Given the description of an element on the screen output the (x, y) to click on. 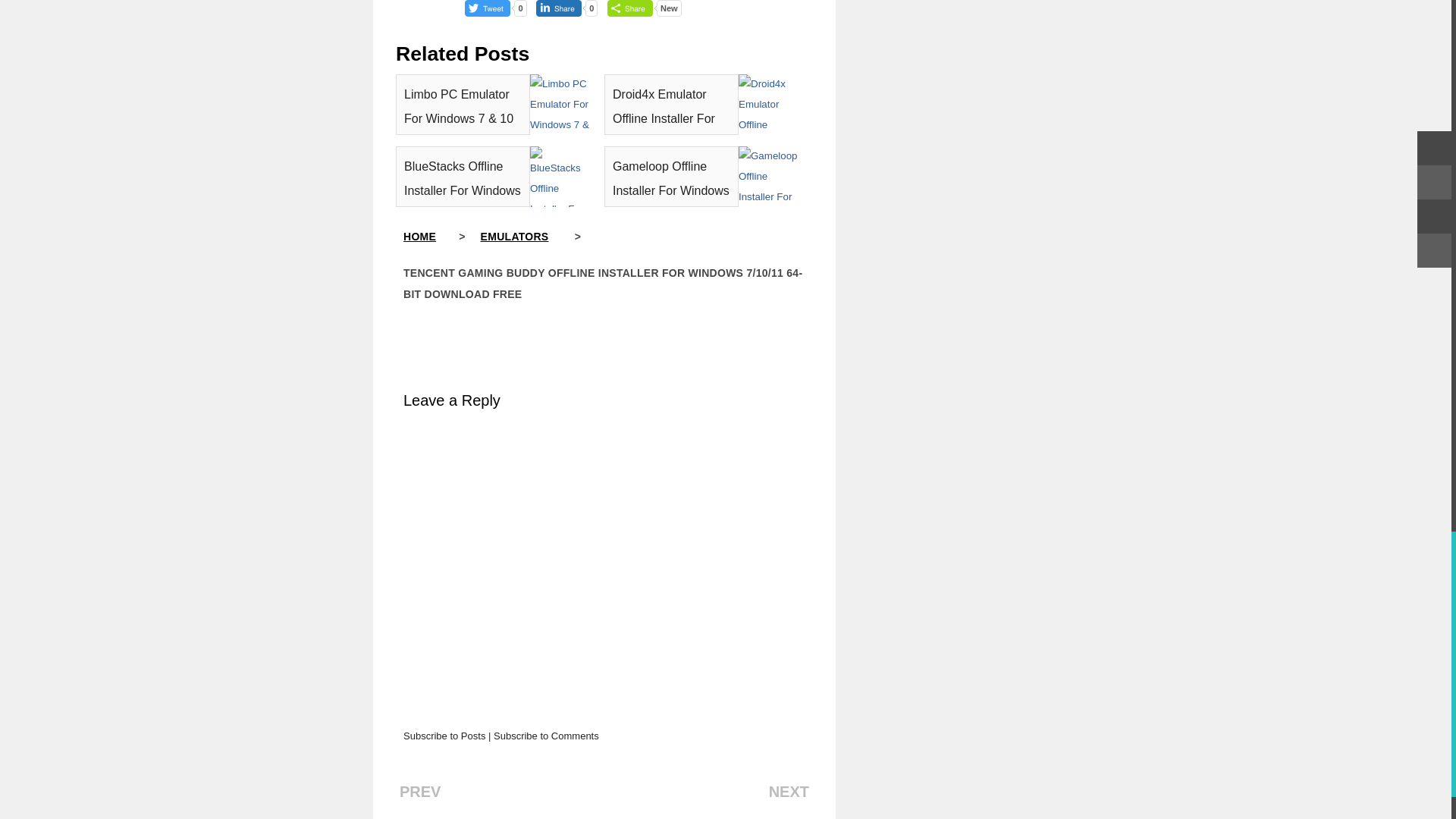
Older Post (420, 791)
NEXT (788, 791)
Subscribe to Posts (443, 736)
EMULATORS (526, 236)
HOME (430, 236)
Newer Post (788, 791)
PREV (420, 791)
Subscribe to Comments (545, 736)
